Given the description of an element on the screen output the (x, y) to click on. 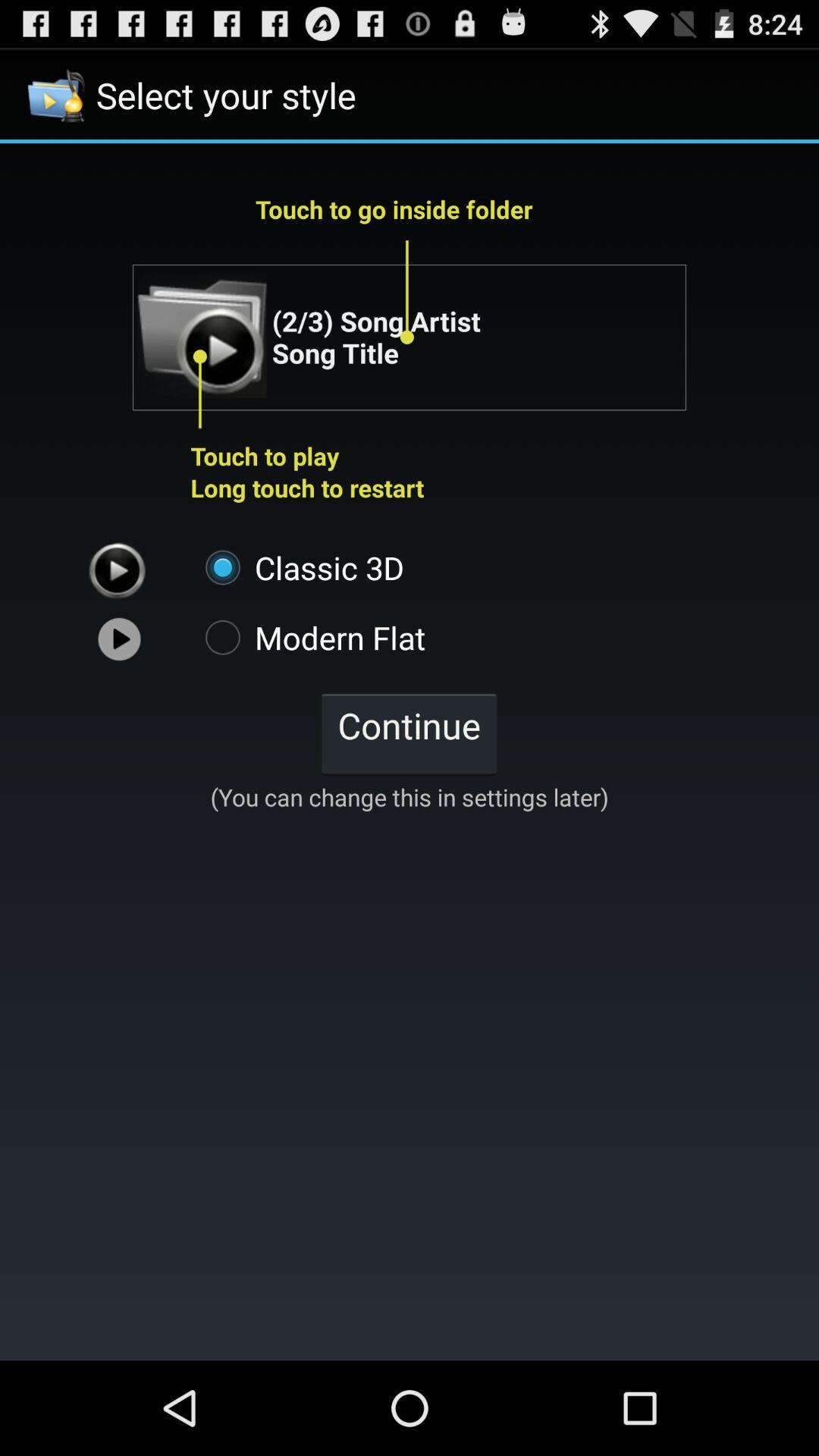
flip to modern flat (308, 637)
